Given the description of an element on the screen output the (x, y) to click on. 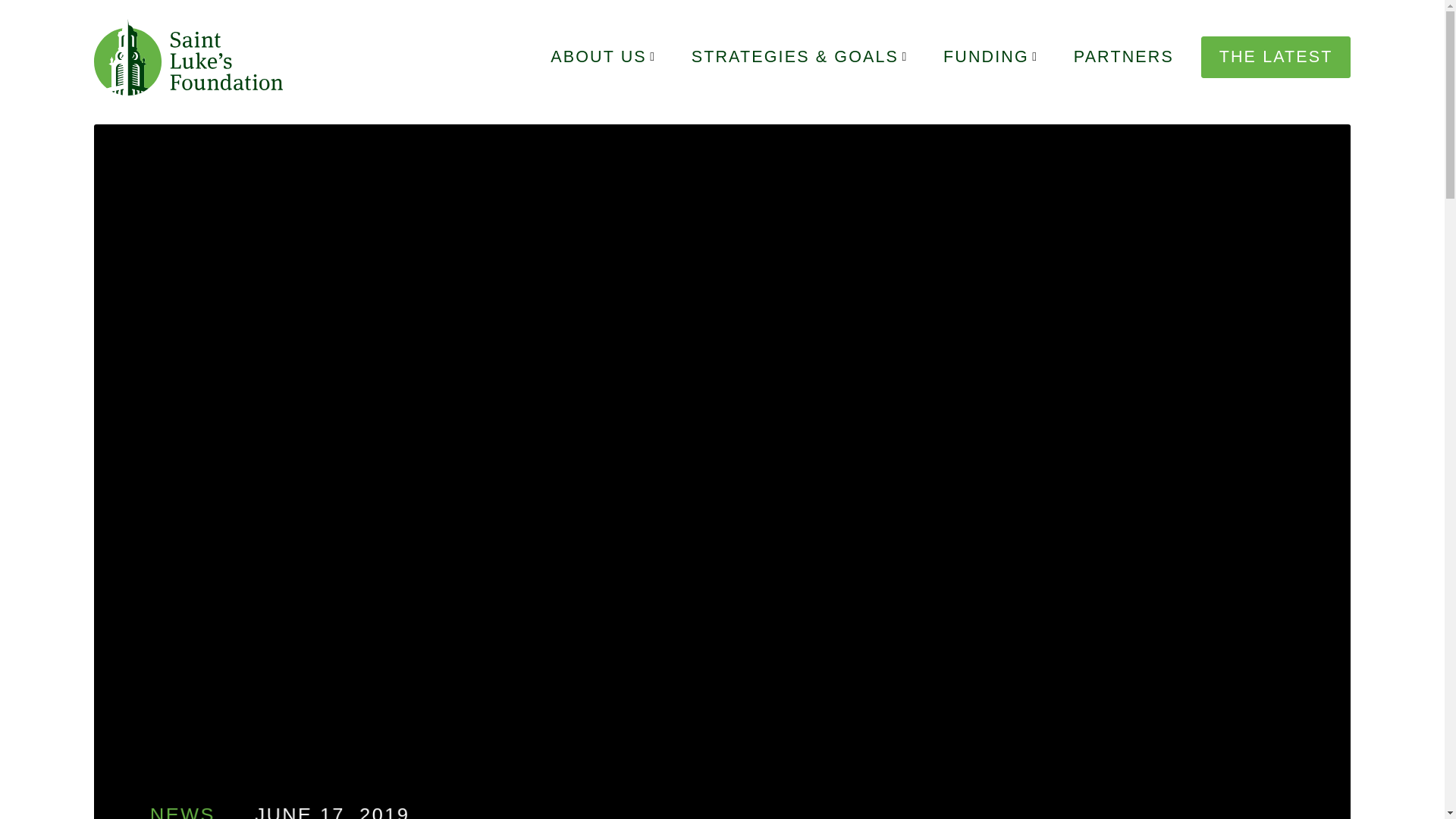
FUNDING (986, 56)
THE LATEST (1276, 57)
ABOUT US (598, 56)
PARTNERS (1123, 56)
